Given the description of an element on the screen output the (x, y) to click on. 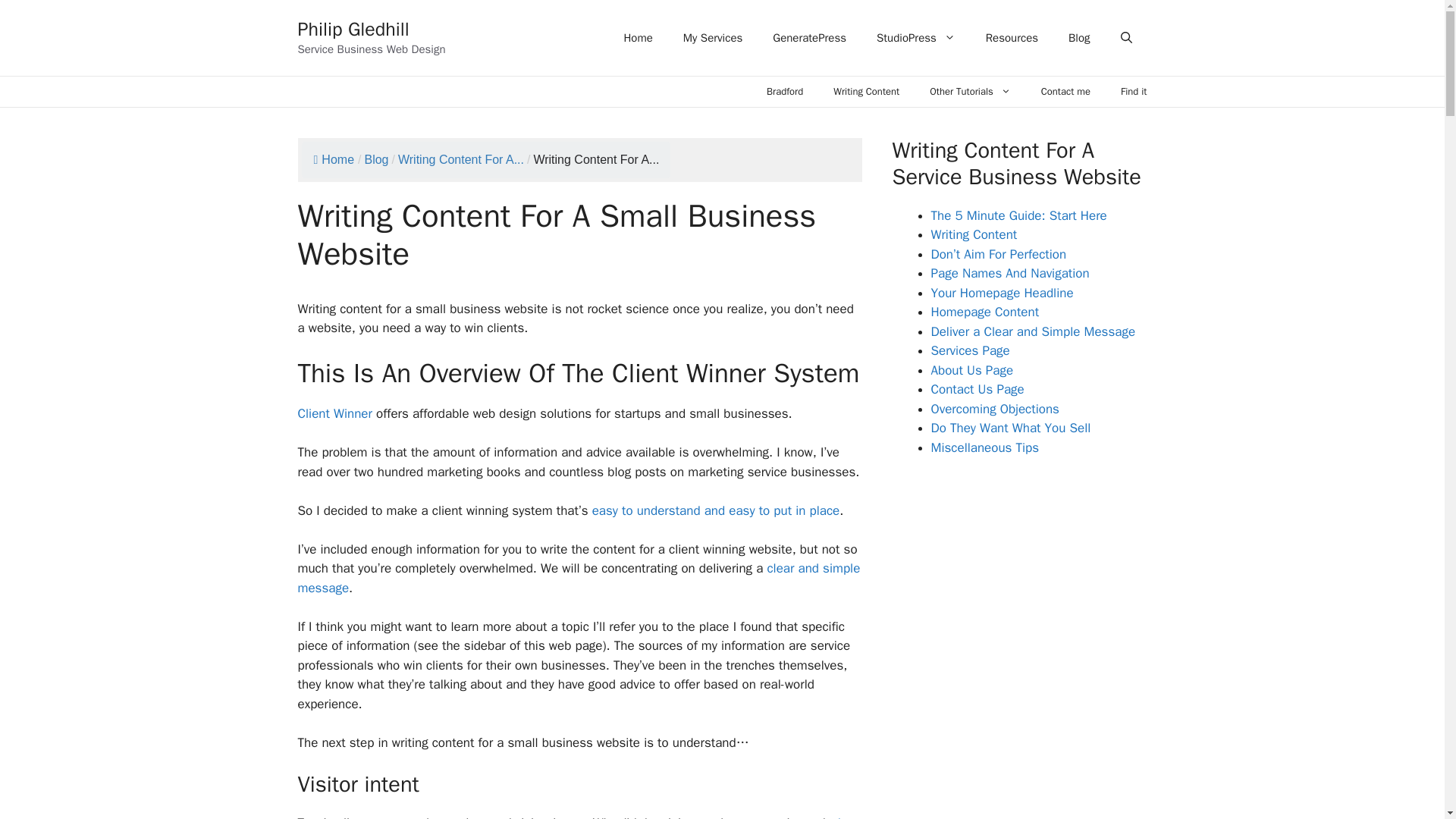
Category Name (460, 159)
Home (334, 159)
Client Winner (334, 413)
Writing Content For A Small Business Website (595, 159)
Writing Content (866, 91)
Blog (1078, 37)
Find it (1133, 91)
Writing Content For A... (460, 159)
easy to understand and easy to put in place (716, 510)
